Given the description of an element on the screen output the (x, y) to click on. 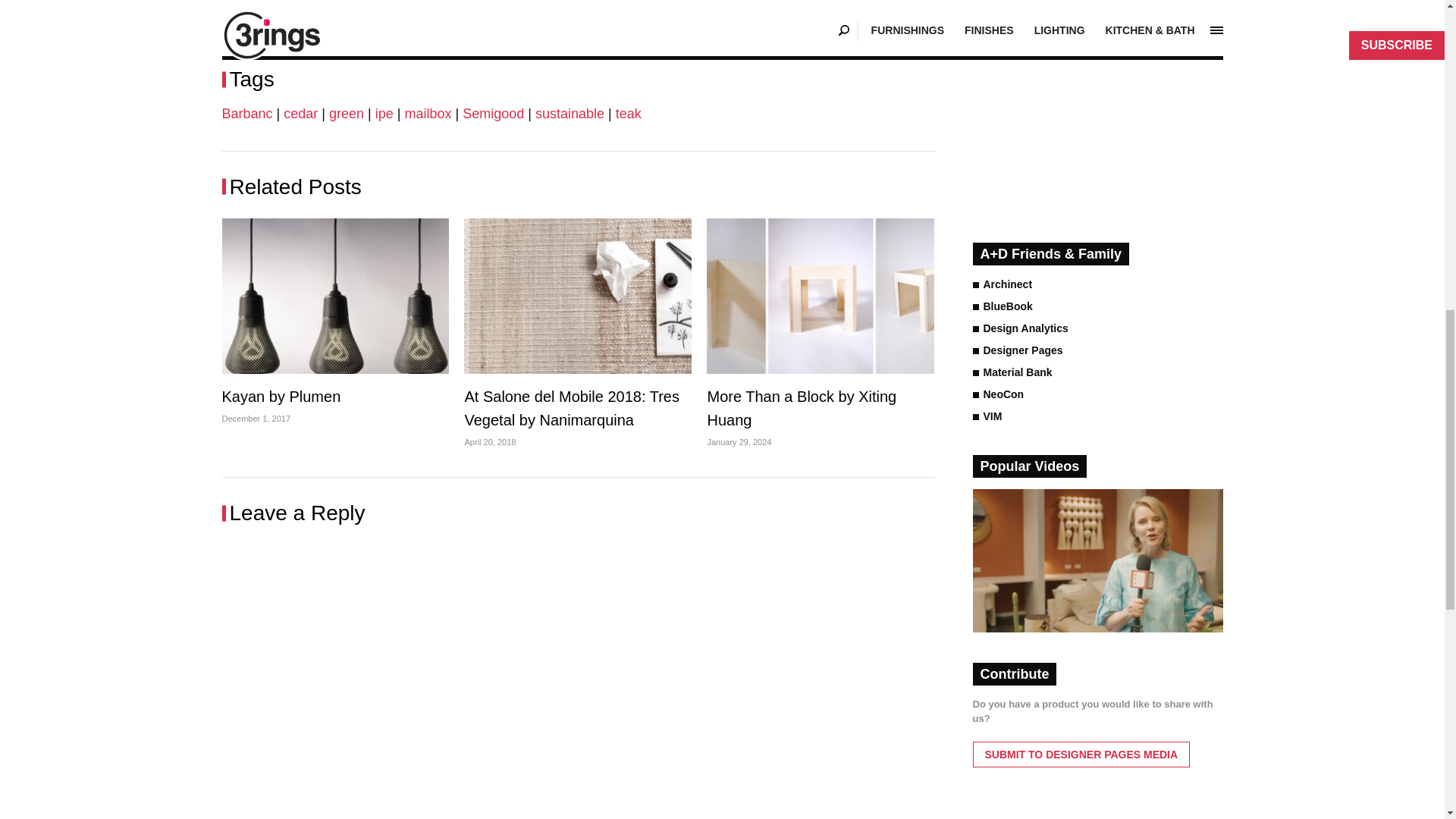
More Than a Block by Xiting Huang (820, 295)
At Salone del Mobile 2018: Tres Vegetal by Nanimarquina (577, 295)
Kayan by Plumen (334, 295)
